Given the description of an element on the screen output the (x, y) to click on. 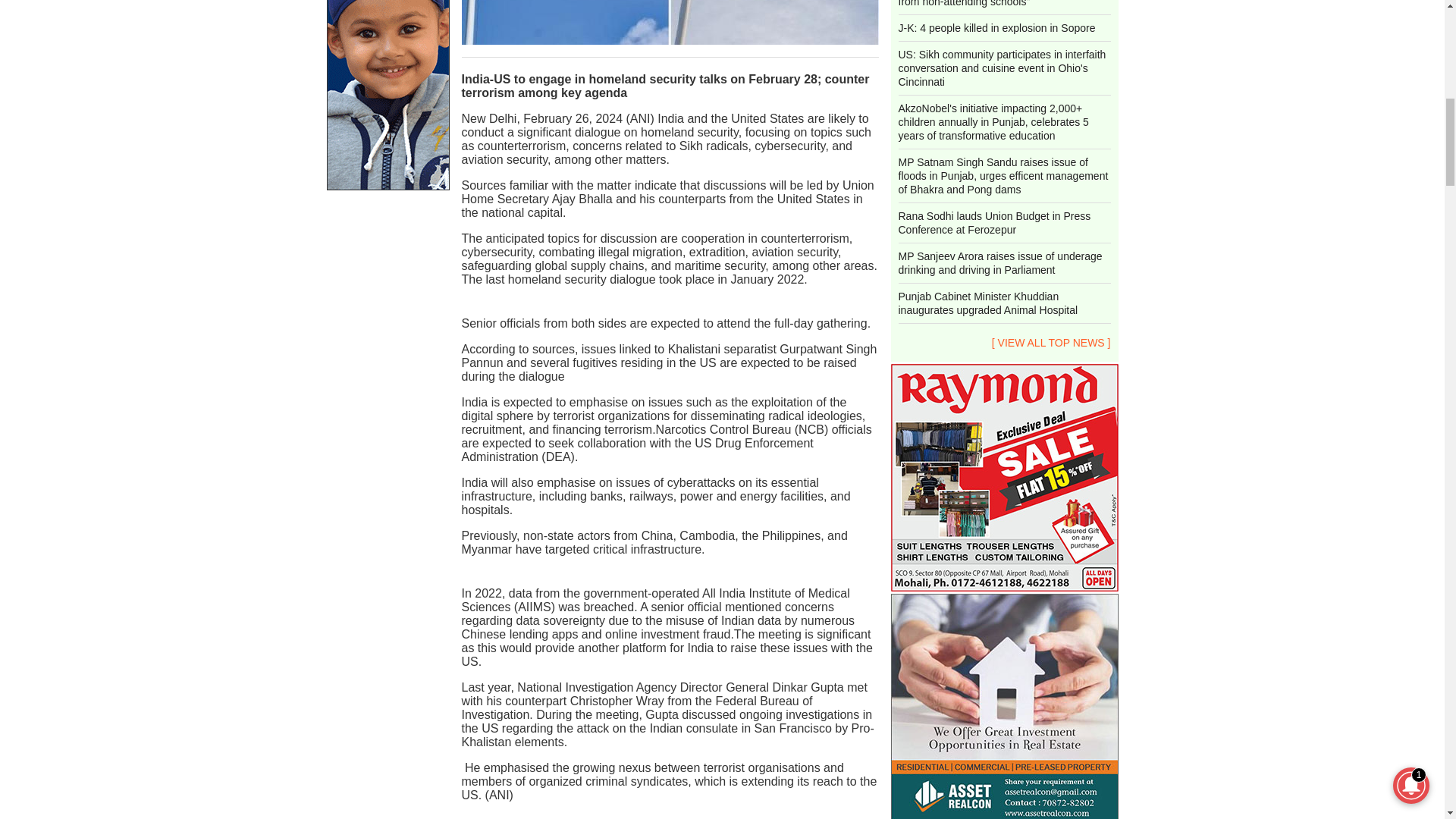
VIEW ALL TOP NEWS (1050, 342)
